Given the description of an element on the screen output the (x, y) to click on. 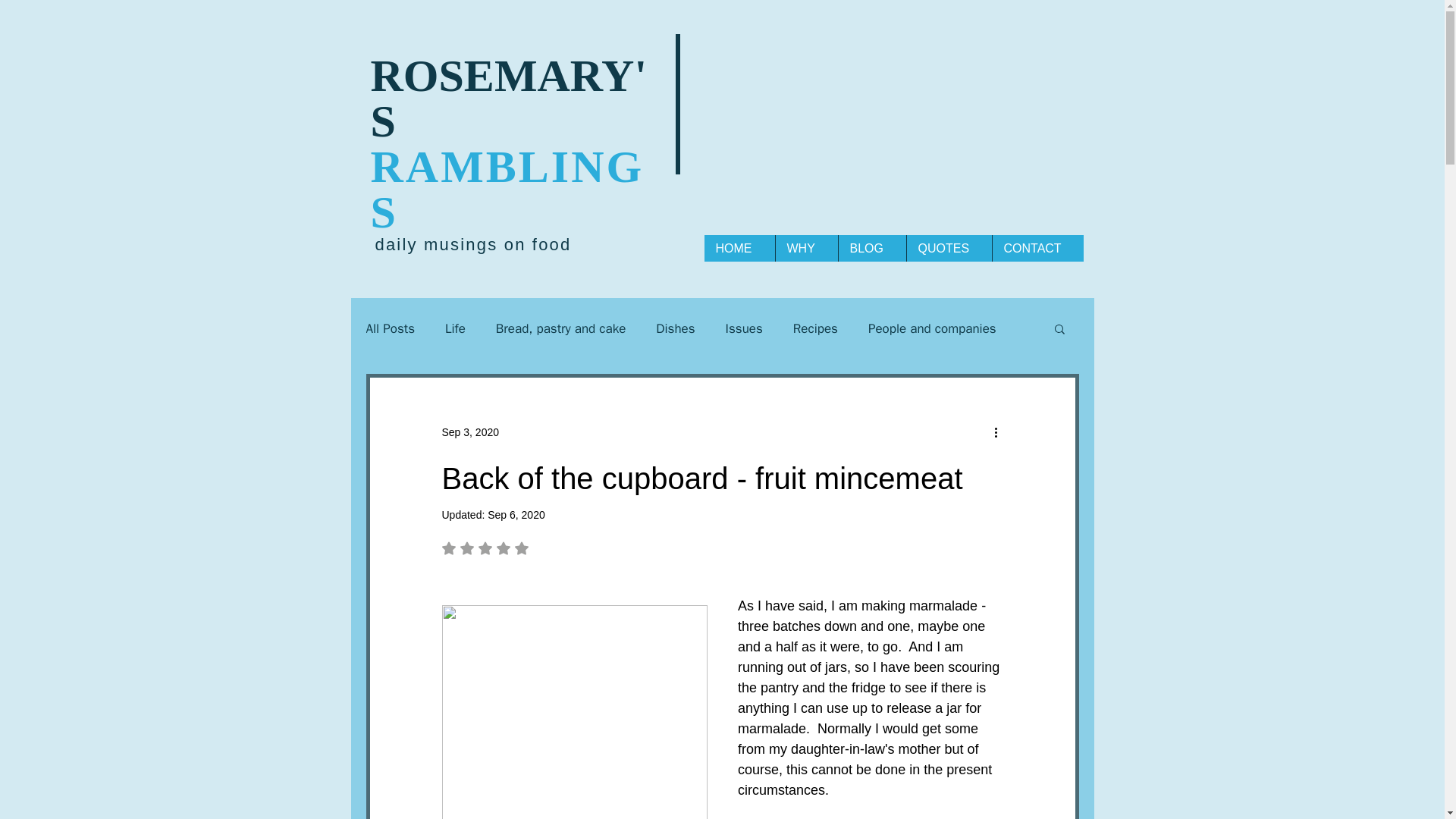
BLOG (521, 548)
Issues (871, 248)
Life (743, 328)
Sep 6, 2020 (455, 328)
Bread, pastry and cake (515, 514)
daily musings on food (561, 328)
Dishes (472, 244)
WHY (675, 328)
All Posts (806, 248)
